Given the description of an element on the screen output the (x, y) to click on. 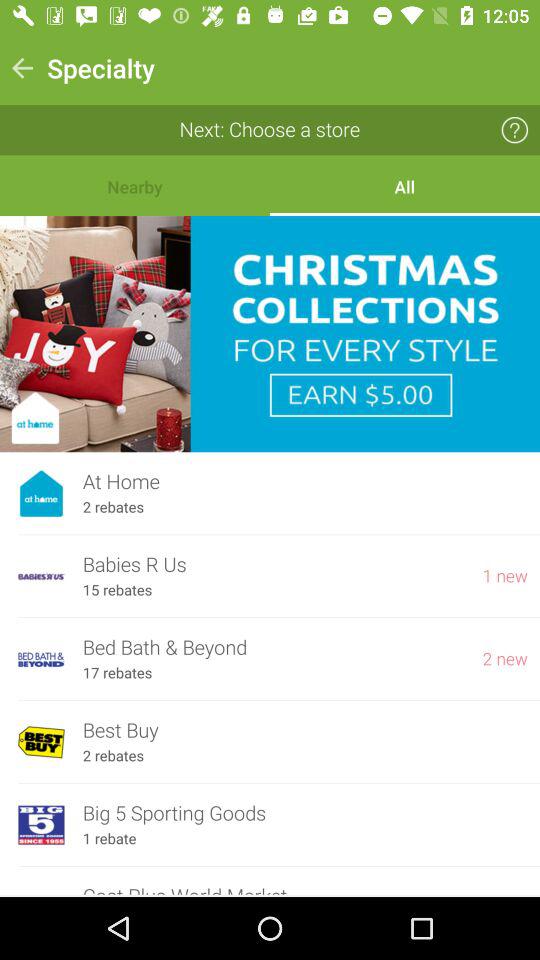
select the icon next to 2 new icon (117, 673)
